Given the description of an element on the screen output the (x, y) to click on. 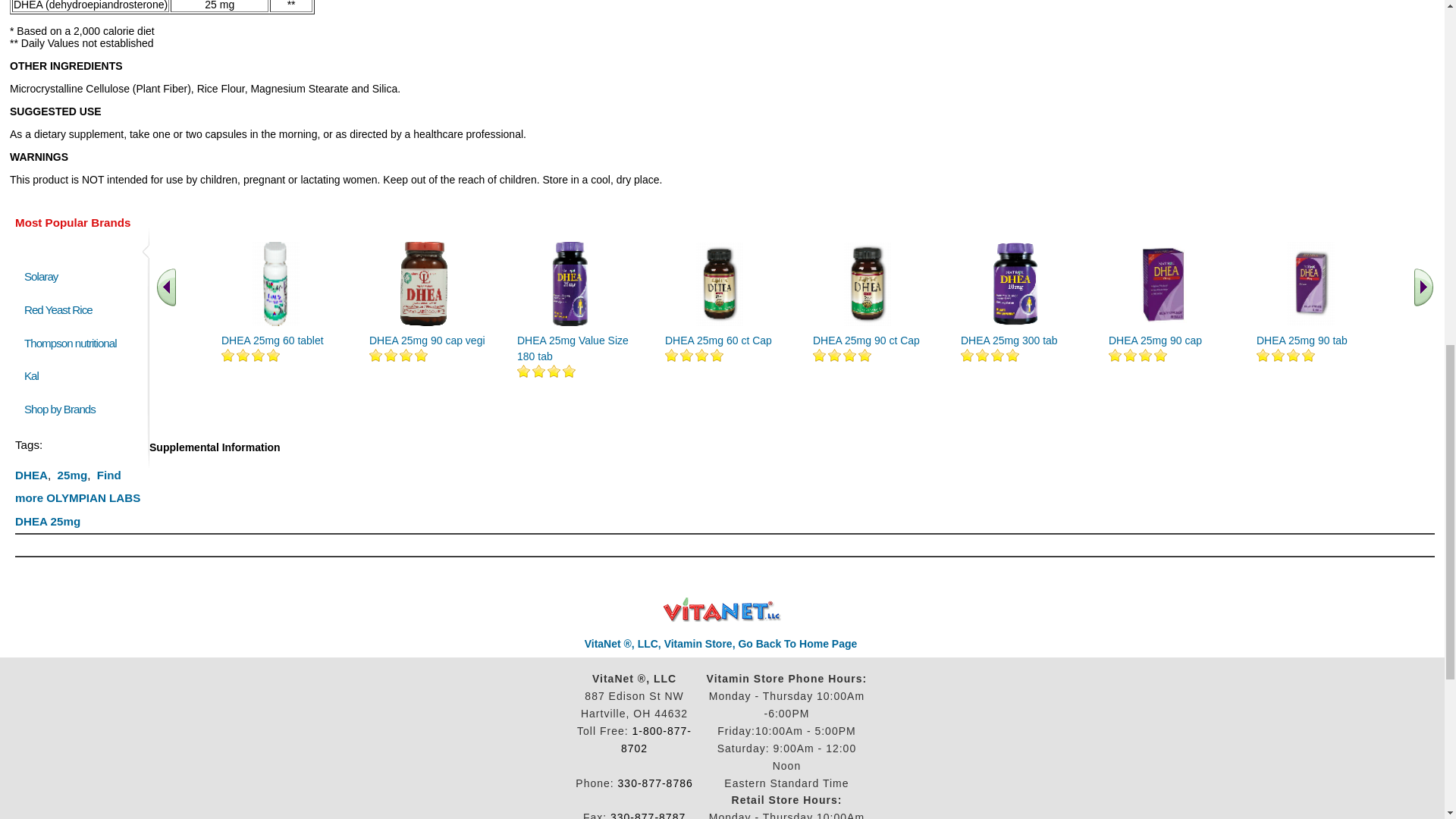
Solaray Products (41, 276)
red yeast rice extract (58, 309)
Shop by Brand Complete list (62, 408)
Search for: DHEA (31, 474)
Search for: 25mg (72, 474)
VitaNet Home Page Link (721, 644)
Kal Brand Products (31, 375)
Kal (31, 375)
Thompson nutritional (70, 342)
Find more OLYMPIAN LABS DHEA 25mg (76, 497)
Red Yeast Rice (58, 309)
Thompson Nutritional Products (70, 342)
Solaray (41, 276)
